Given the description of an element on the screen output the (x, y) to click on. 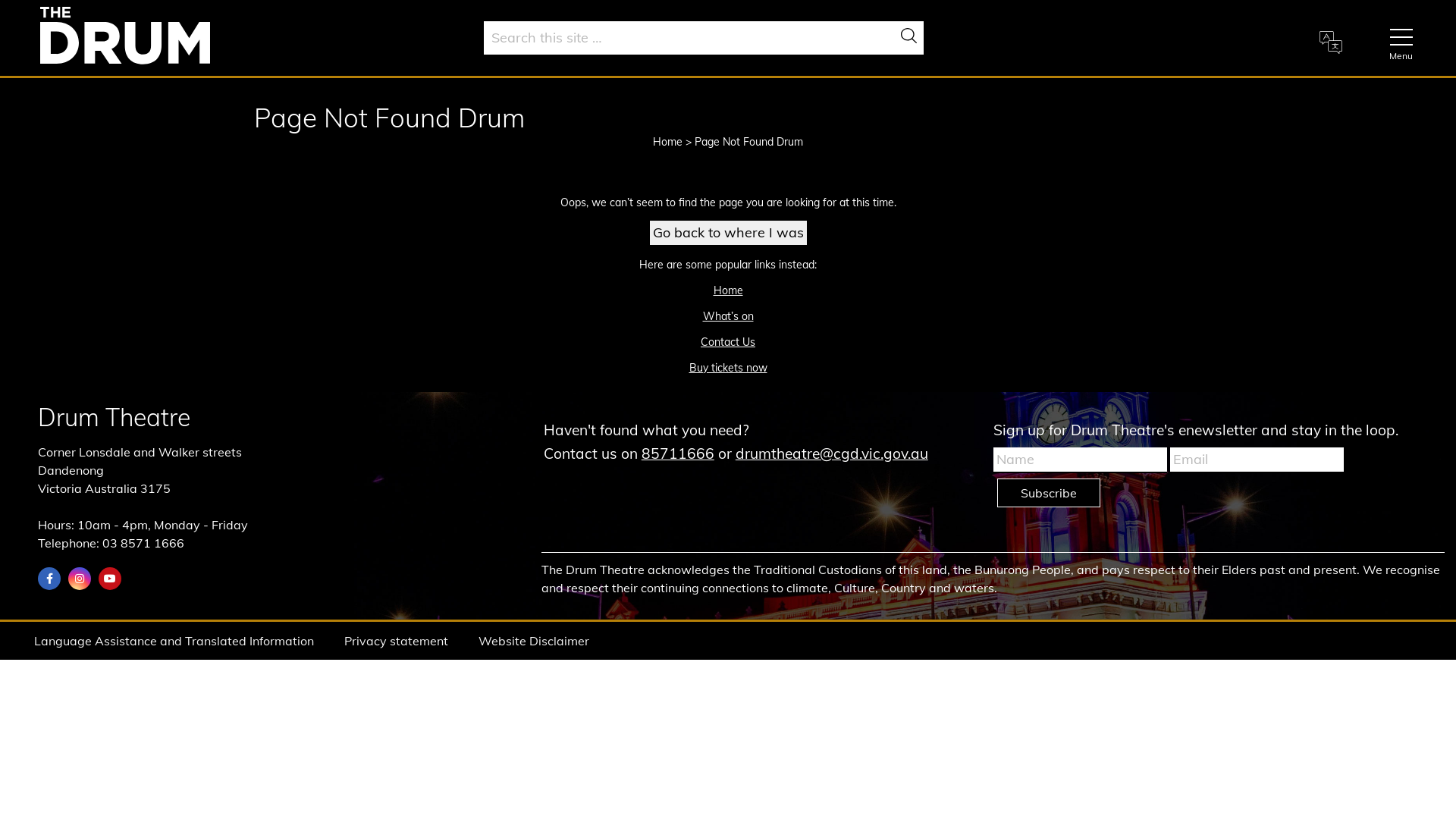
Home Element type: text (667, 141)
drumtheatre@cgd.vic.gov.au Element type: text (831, 453)
Language Assistance and Translated Information Element type: text (173, 640)
Privacy statement Element type: text (396, 640)
Buy tickets now Element type: text (727, 367)
Subscribe Element type: text (1048, 492)
Go back to where I was Element type: text (727, 232)
Search Element type: text (911, 39)
Contact Us Element type: text (727, 341)
Skip to main content Element type: text (0, 0)
Website Disclaimer Element type: text (533, 640)
Home Element type: hover (124, 34)
85711666 Element type: text (677, 453)
Home Element type: text (727, 290)
